Given the description of an element on the screen output the (x, y) to click on. 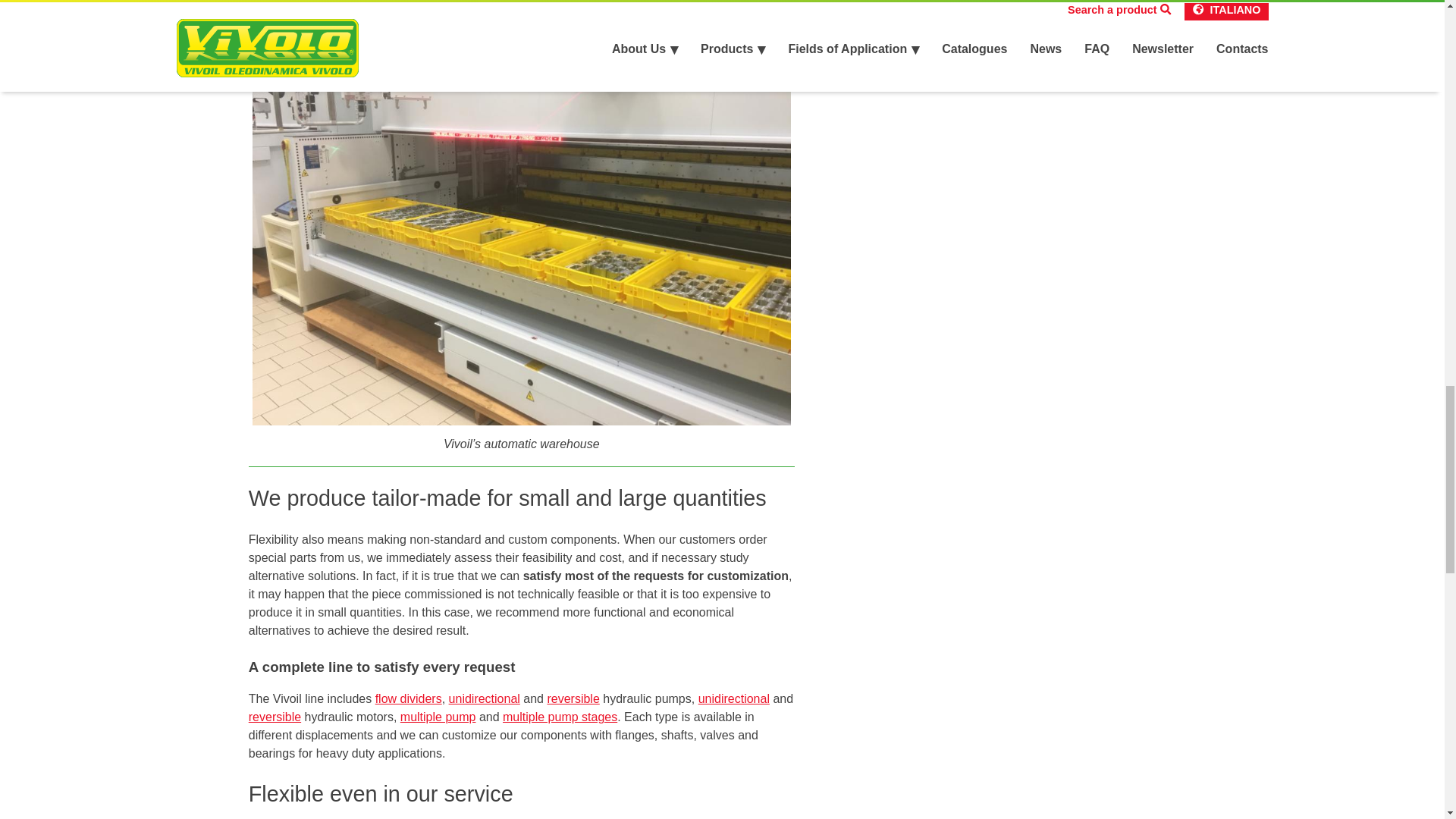
multiple pump (438, 716)
reversible (572, 698)
unidirectional (483, 698)
flow dividers (408, 698)
reversible (274, 716)
unidirectional (734, 698)
multiple pump stages (559, 716)
